Given the description of an element on the screen output the (x, y) to click on. 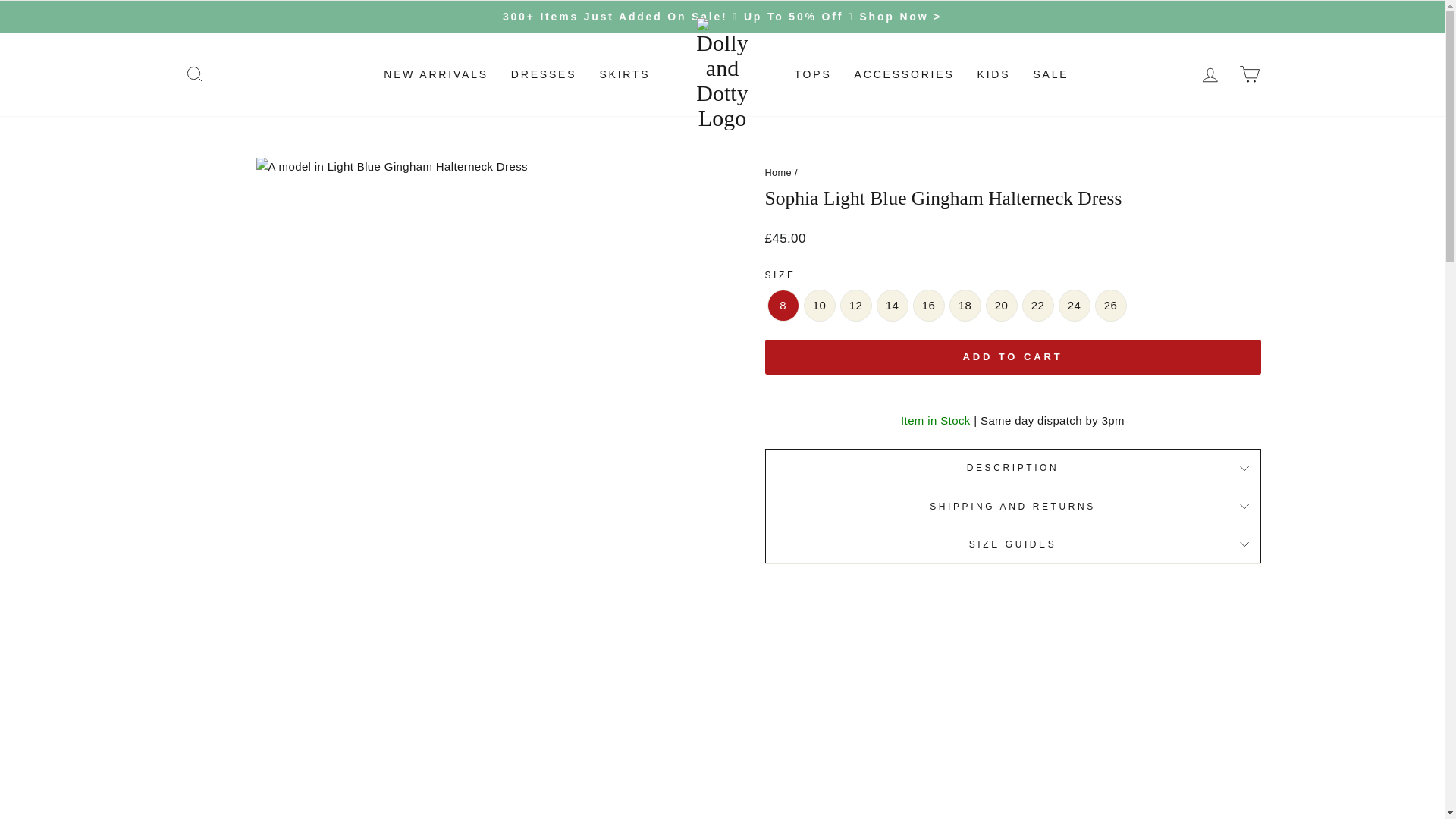
SEARCH (194, 74)
Back to the frontpage (778, 172)
